Given the description of an element on the screen output the (x, y) to click on. 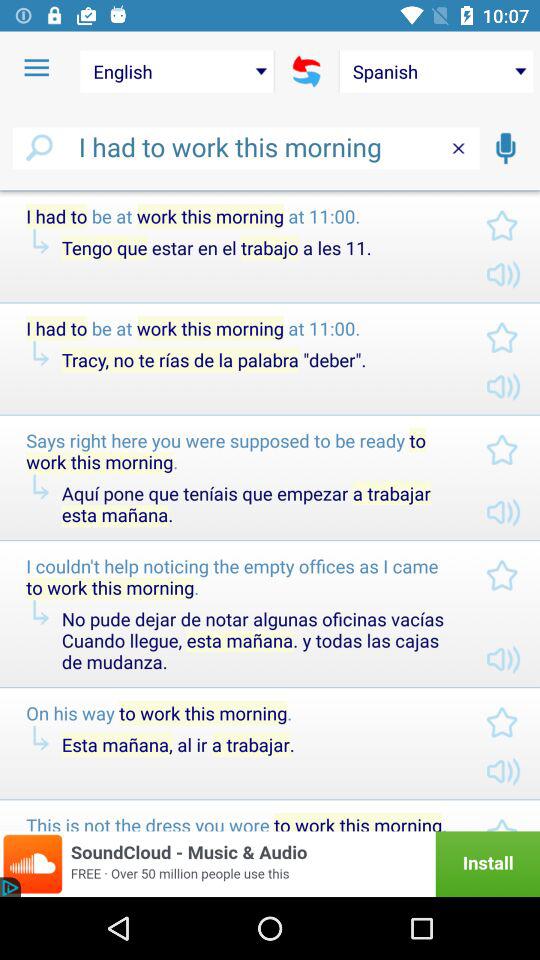
launch the item next to english (36, 68)
